Given the description of an element on the screen output the (x, y) to click on. 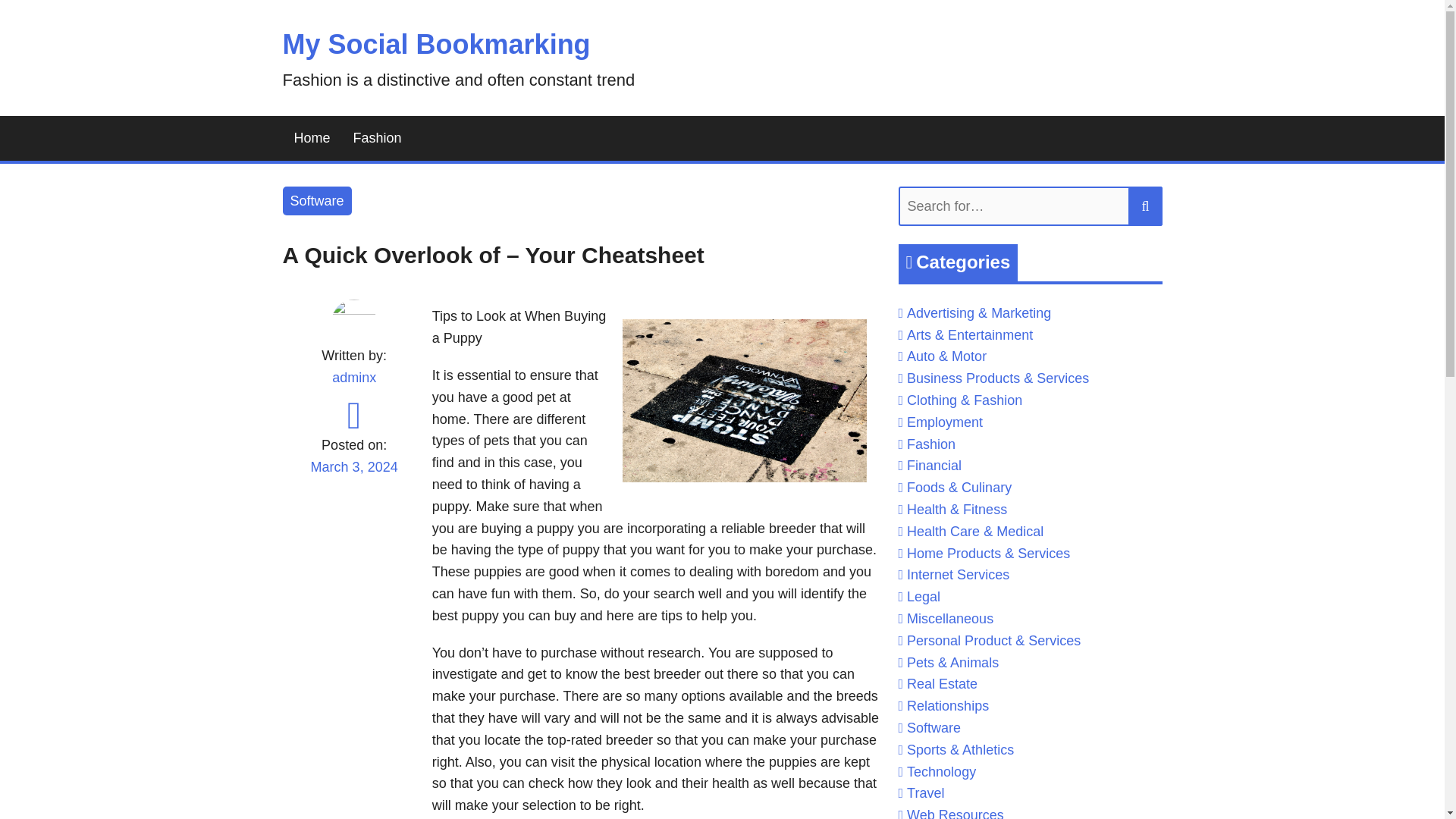
March 3, 2024 (353, 476)
Search for: (1029, 206)
Legal (923, 596)
Travel (925, 792)
Real Estate (941, 683)
Employment (944, 421)
Miscellaneous (949, 618)
Relationships (947, 705)
Software (316, 201)
adminx (353, 377)
Internet Services (958, 574)
Technology (941, 771)
Home (311, 138)
My Social Bookmarking (435, 43)
Web Resources (955, 813)
